Given the description of an element on the screen output the (x, y) to click on. 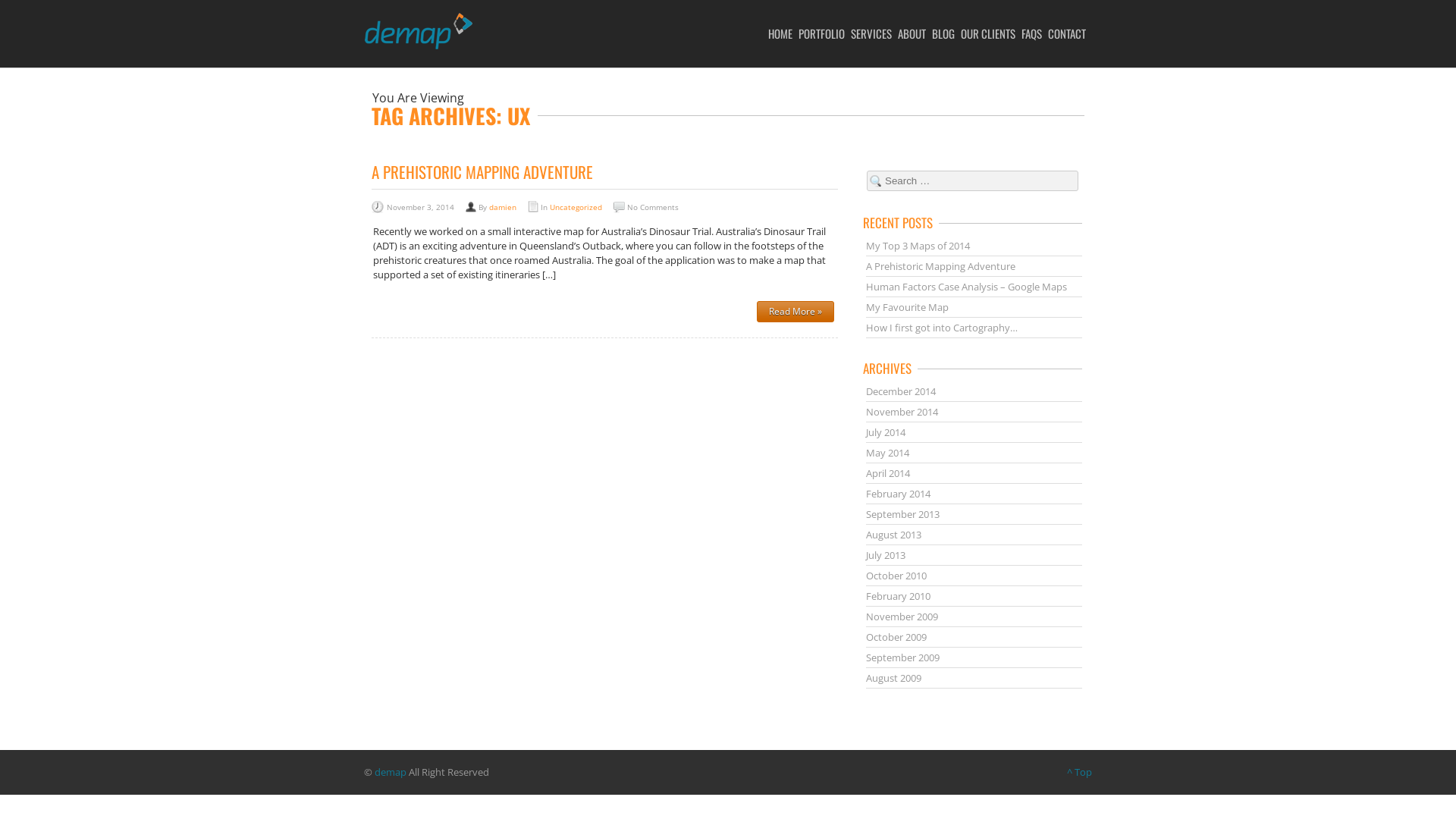
ABOUT Element type: text (914, 33)
My Favourite Map Element type: text (907, 306)
OUR CLIENTS Element type: text (990, 33)
A PREHISTORIC MAPPING ADVENTURE Element type: text (482, 171)
May 2014 Element type: text (887, 452)
SERVICES Element type: text (873, 33)
PORTFOLIO Element type: text (824, 33)
My Top 3 Maps of 2014 Element type: text (917, 245)
September 2013 Element type: text (902, 513)
FAQS Element type: text (1034, 33)
August 2013 Element type: text (893, 534)
April 2014 Element type: text (888, 473)
BLOG Element type: text (945, 33)
July 2014 Element type: text (885, 432)
August 2009 Element type: text (893, 677)
October 2010 Element type: text (896, 575)
A Prehistoric Mapping Adventure Element type: text (940, 266)
November 2009 Element type: text (902, 616)
November 2014 Element type: text (902, 411)
February 2014 Element type: text (898, 493)
December 2014 Element type: text (900, 391)
HOME Element type: text (783, 33)
damien Element type: text (502, 206)
Uncategorized Element type: text (575, 206)
October 2009 Element type: text (896, 636)
CONTACT Element type: text (1070, 33)
July 2013 Element type: text (885, 554)
demap Element type: text (390, 771)
^ Top Element type: text (1079, 771)
September 2009 Element type: text (902, 657)
February 2010 Element type: text (898, 595)
